Given the description of an element on the screen output the (x, y) to click on. 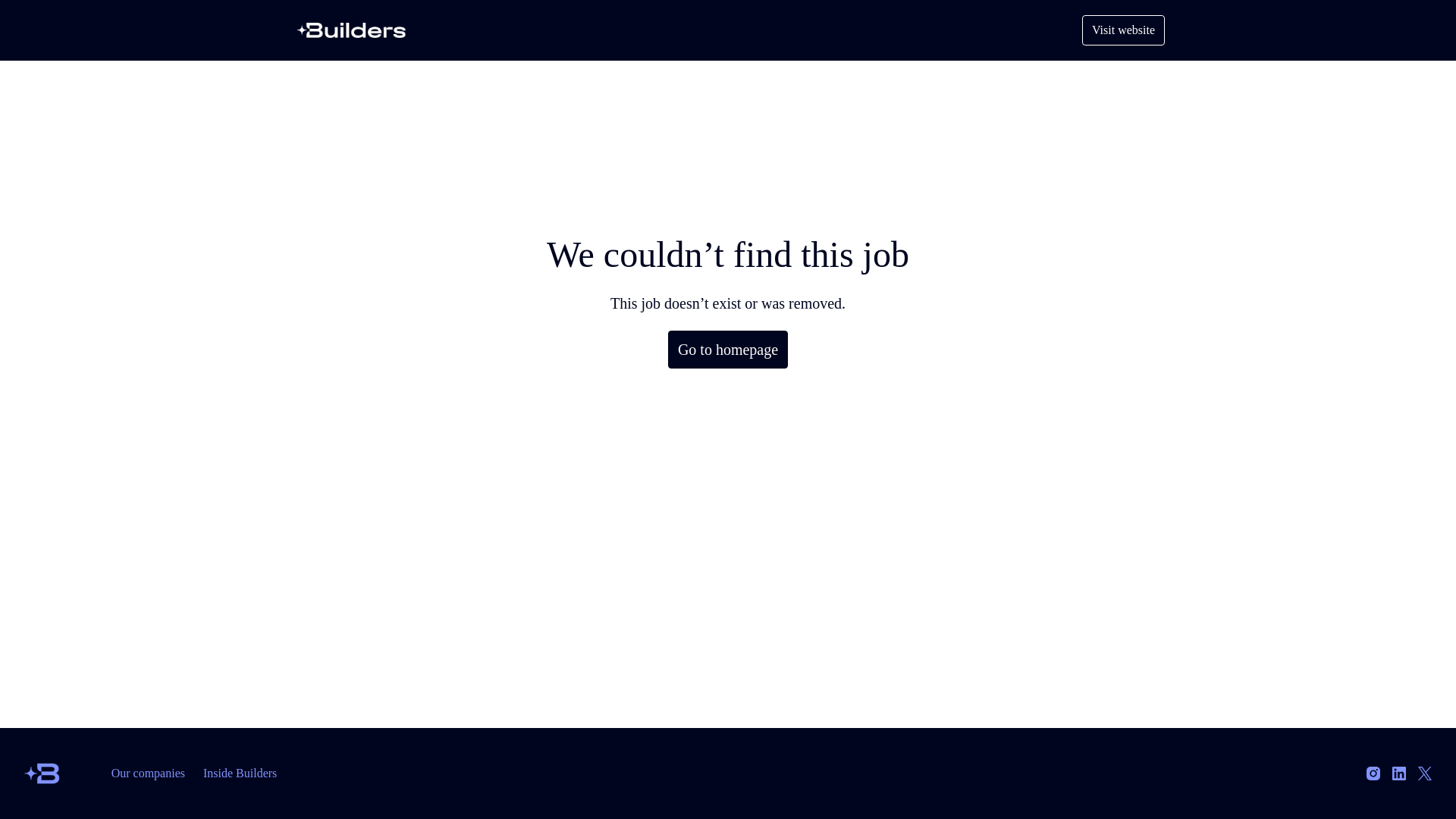
Homepage (351, 30)
linkedin (1399, 773)
Our companies (147, 773)
twitter (1425, 773)
instagram (1372, 773)
Inside Builders (239, 773)
Go to homepage (727, 349)
Visit website (1122, 30)
